Given the description of an element on the screen output the (x, y) to click on. 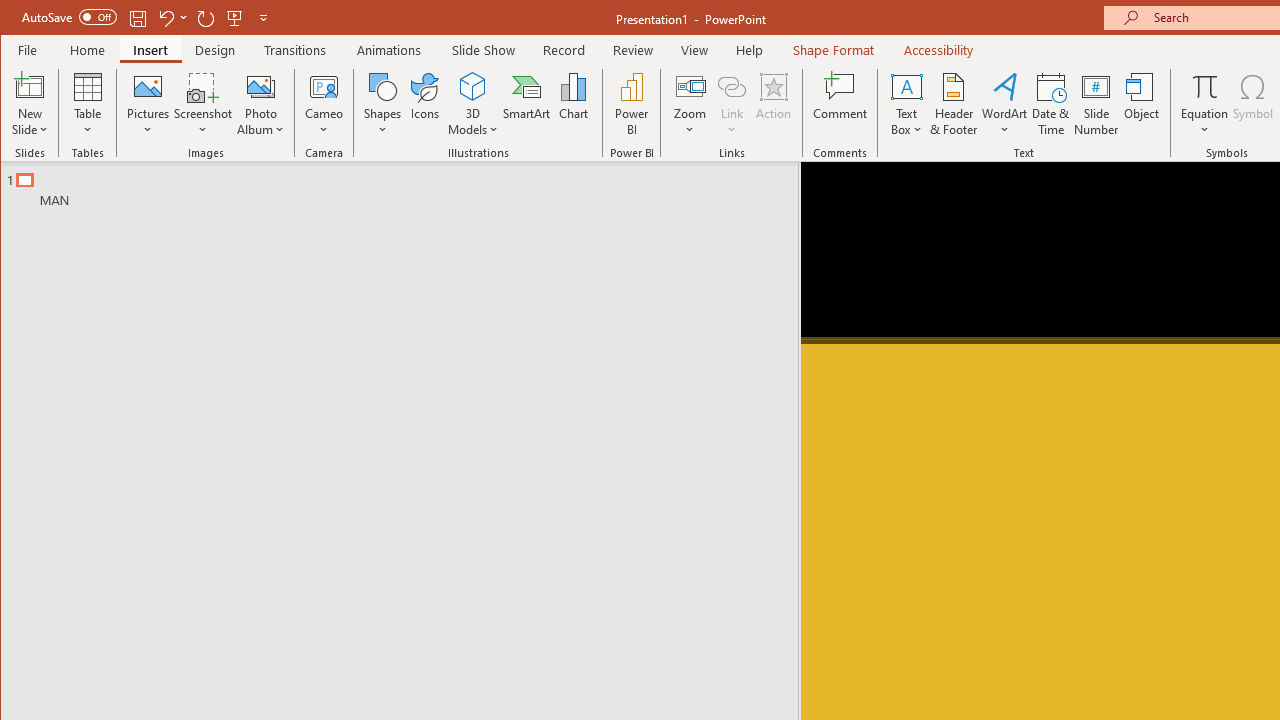
Slide Number (1096, 104)
SmartArt... (526, 104)
Chart... (573, 104)
